Given the description of an element on the screen output the (x, y) to click on. 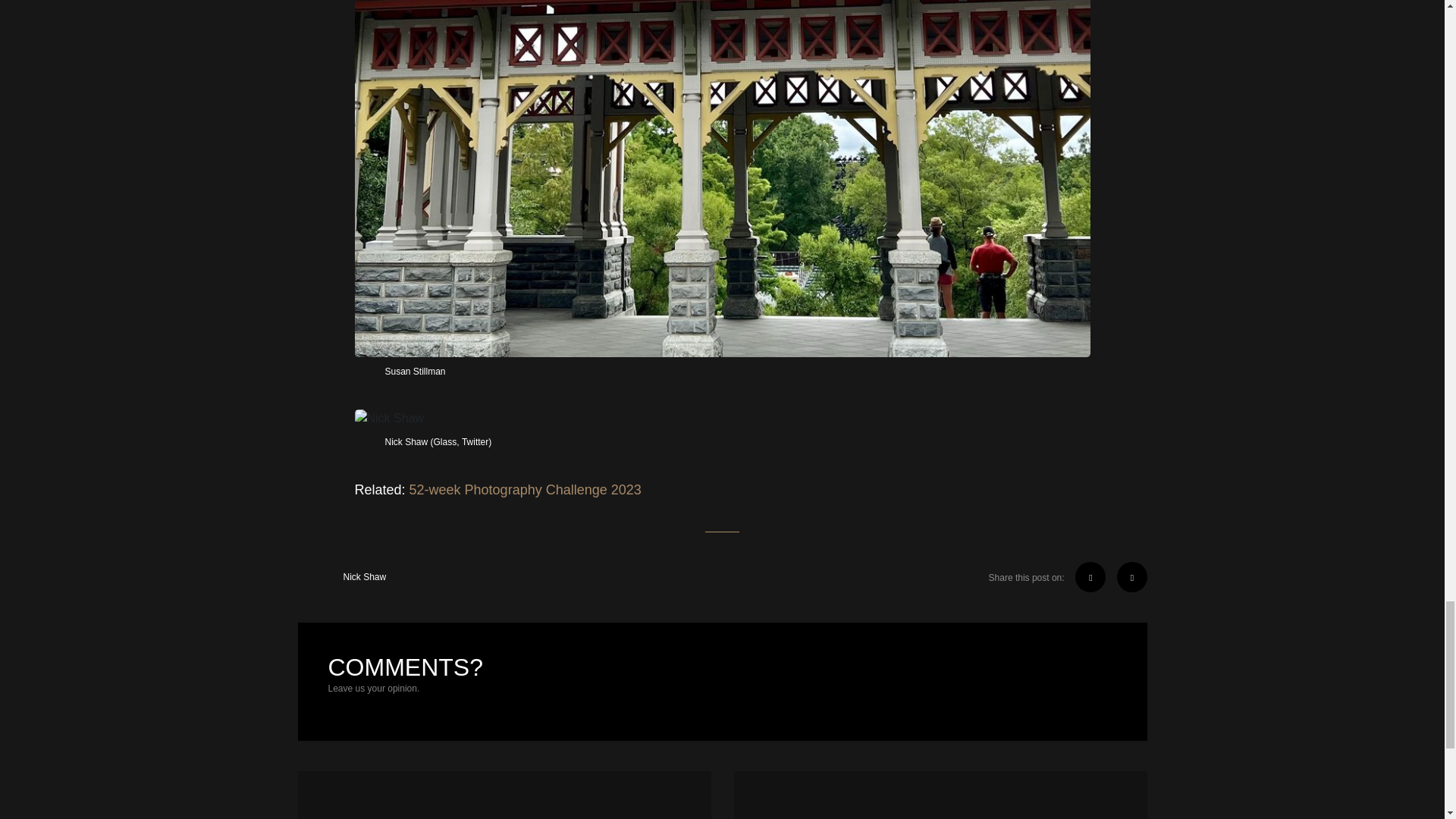
Nick Shaw (341, 576)
52-week Photography Challenge 2023 (525, 490)
Susan Stillman (415, 371)
Glass (445, 441)
Twitter (474, 441)
